Given the description of an element on the screen output the (x, y) to click on. 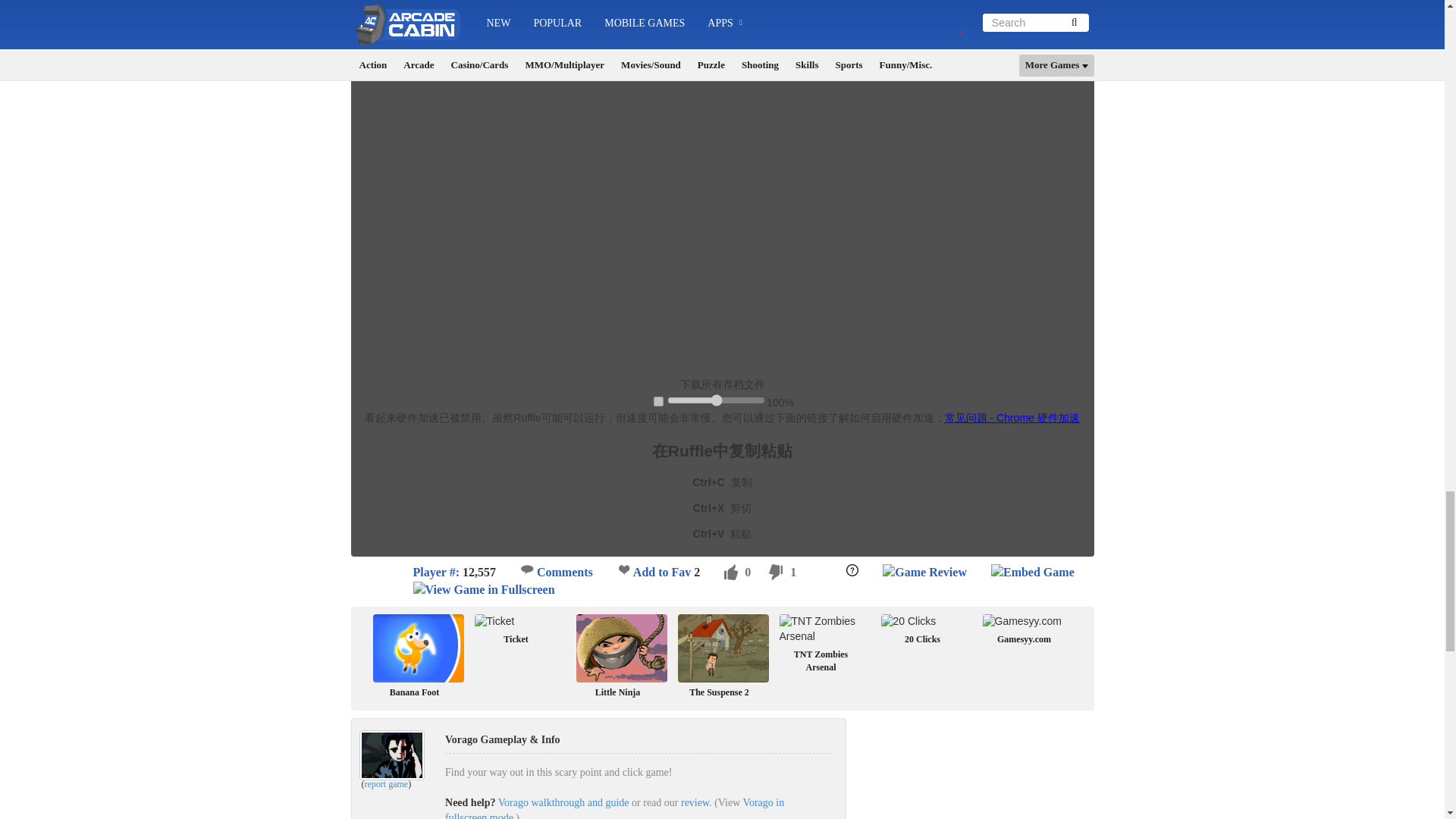
View Game in Fullscreen (483, 589)
Game Review (924, 572)
Add to My Favorites (623, 569)
Embed Game (1032, 572)
